Given the description of an element on the screen output the (x, y) to click on. 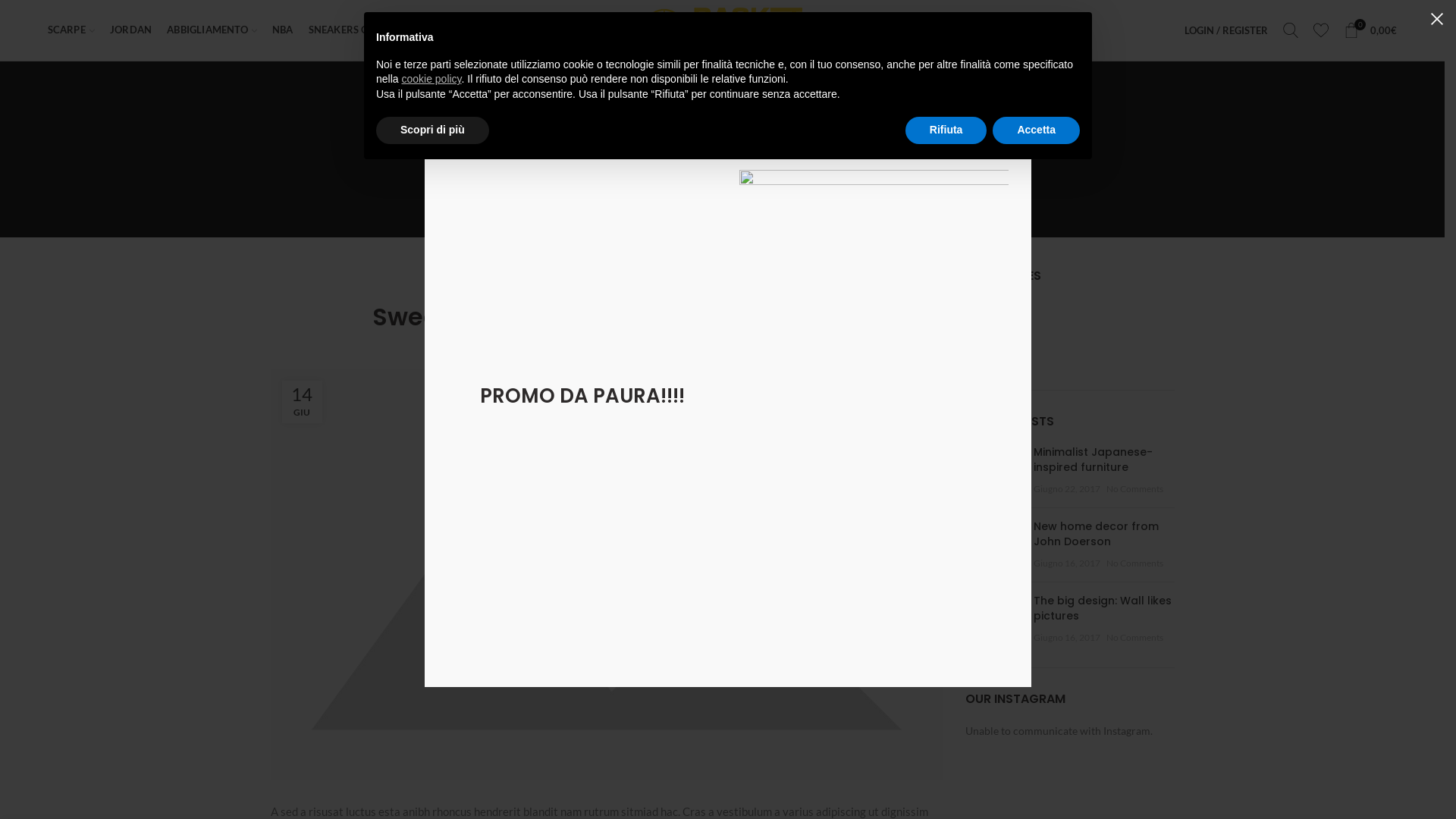
SNEAKERS CUSTOM Element type: text (356, 30)
Minimalist Japanese-inspired furniture Element type: text (1092, 459)
JORDAN Element type: text (130, 30)
Webmaster_14basketstore Element type: text (642, 345)
cookie policy Element type: text (431, 78)
wood-blog-placeholder Element type: hover (993, 467)
No Comments Element type: text (1134, 637)
14
GIU Element type: text (302, 401)
NBA Element type: text (282, 30)
Furniture Element type: text (988, 359)
Accetta Element type: text (1035, 130)
My Wishlist Element type: hover (1320, 30)
SCARPE Element type: text (71, 30)
wood-blog-placeholder Element type: hover (993, 616)
Design trends Element type: text (998, 333)
No Comments Element type: text (1134, 562)
No Comments Element type: text (1134, 488)
Search Element type: hover (1290, 30)
wood-blog-placeholder Element type: hover (993, 541)
FURNITURE Element type: text (742, 182)
LOGIN / REGISTER Element type: text (1225, 30)
HOME Element type: text (698, 182)
Decoration Element type: text (992, 306)
ABBIGLIAMENTO Element type: text (211, 30)
The big design: Wall likes pictures Element type: text (1102, 608)
New home decor from John Doerson Element type: text (1095, 533)
FURNITURE Element type: text (606, 276)
Rifiuta Element type: text (946, 130)
